Given the description of an element on the screen output the (x, y) to click on. 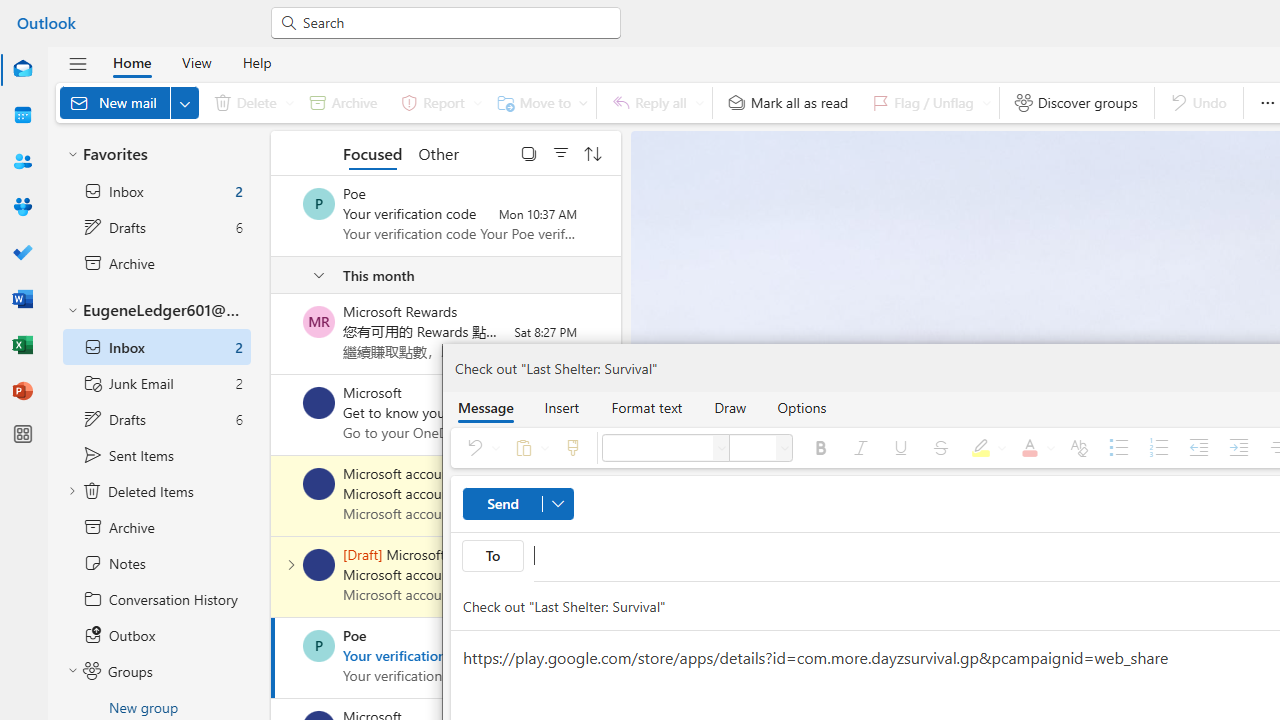
Hide navigation pane (77, 63)
Calendar (22, 115)
Format painter (572, 447)
Expand to see more New options (184, 102)
Italic (860, 447)
PowerPoint (22, 390)
Excel (22, 345)
Text highlight color (985, 447)
Send (518, 503)
To (492, 555)
Microsoft (319, 403)
More apps (22, 434)
Bullets (1119, 447)
Search for email, meetings, files and more. (454, 21)
Mark all as read (788, 102)
